Given the description of an element on the screen output the (x, y) to click on. 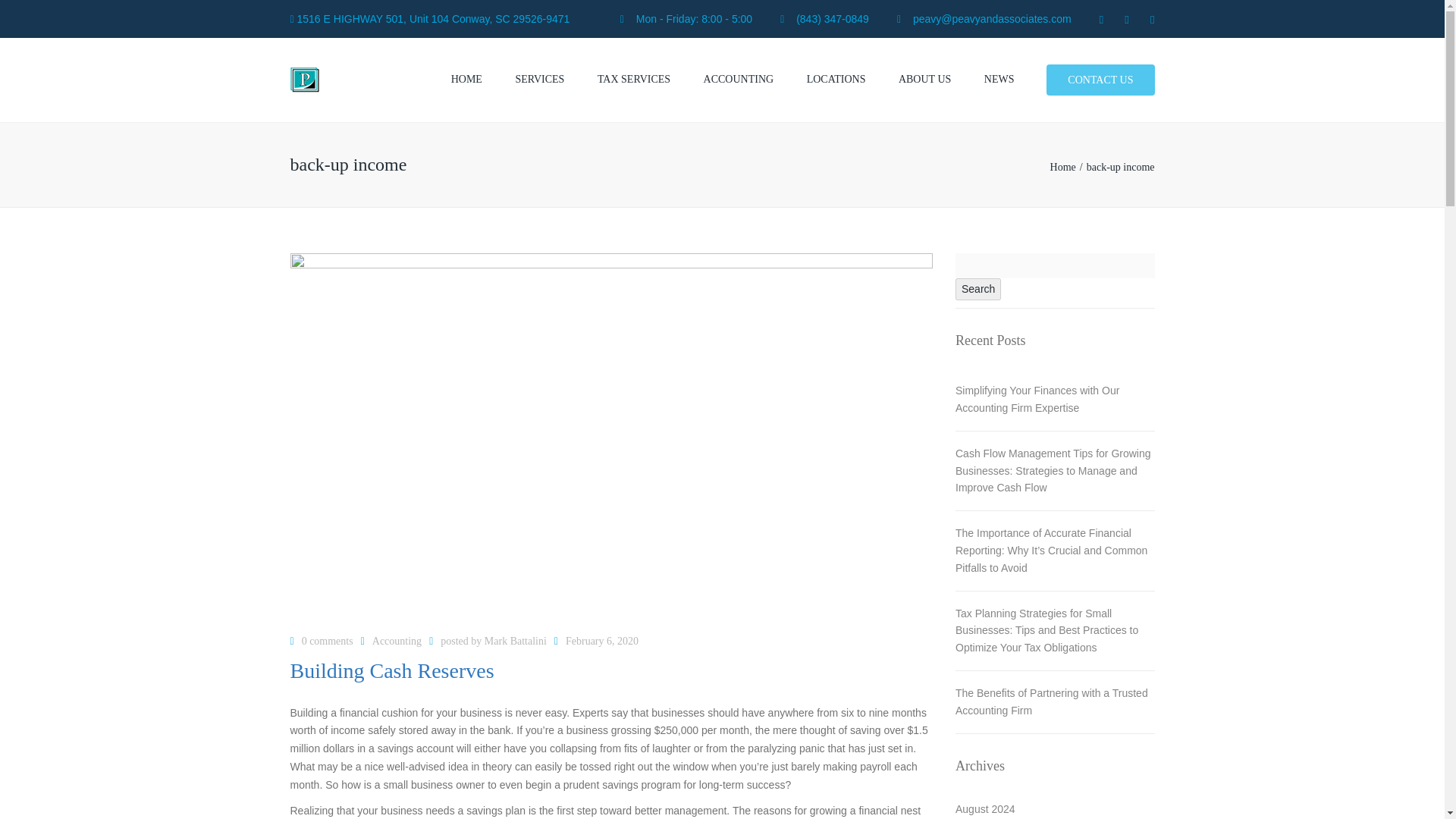
HOME (466, 79)
TAX SERVICES (633, 79)
Search (978, 289)
LOCATIONS (836, 79)
ACCOUNTING (738, 79)
Building Cash Reserves (391, 676)
SERVICES (539, 79)
